Given the description of an element on the screen output the (x, y) to click on. 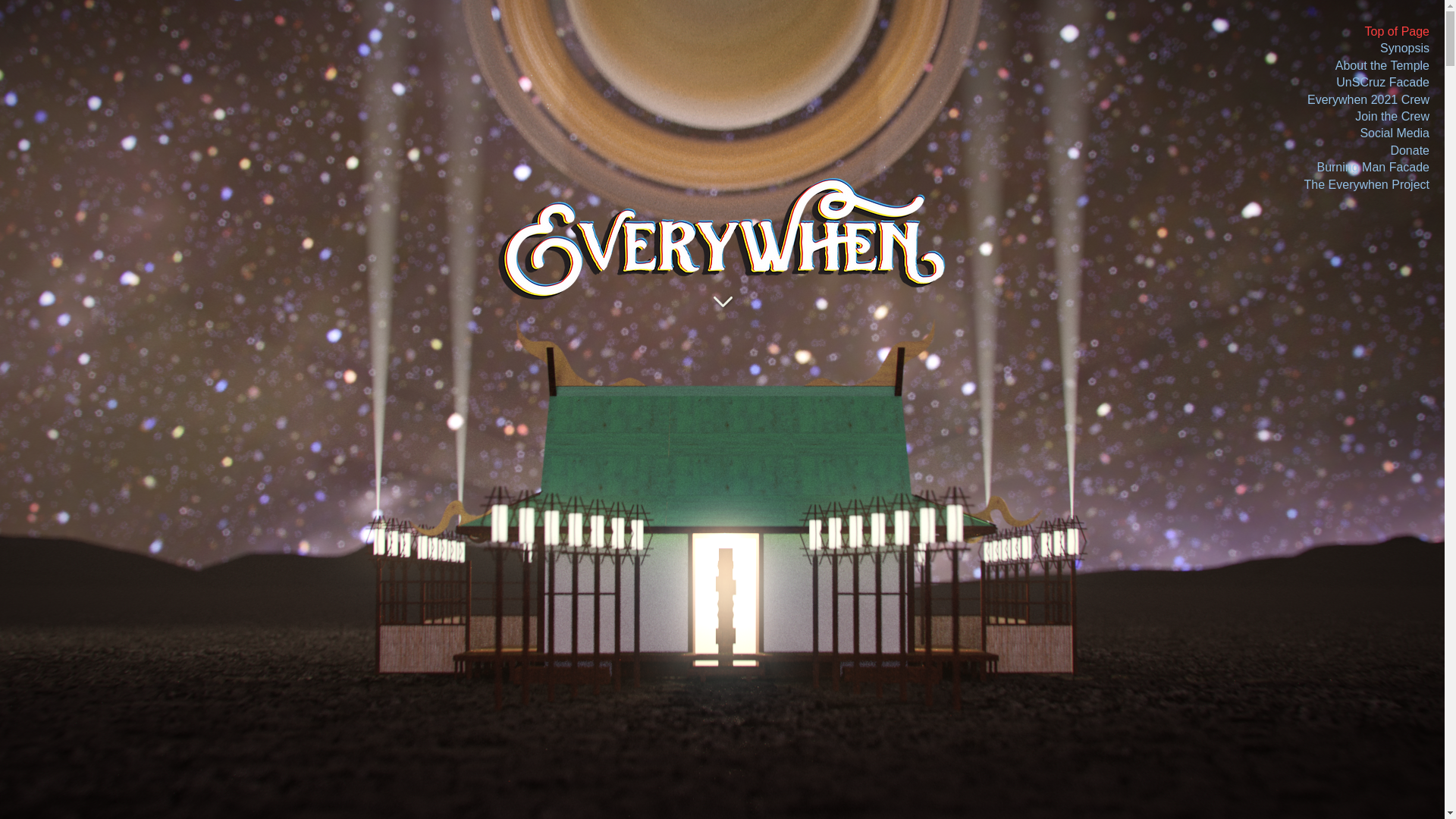
Temple of Everywhen (722, 239)
